Given the description of an element on the screen output the (x, y) to click on. 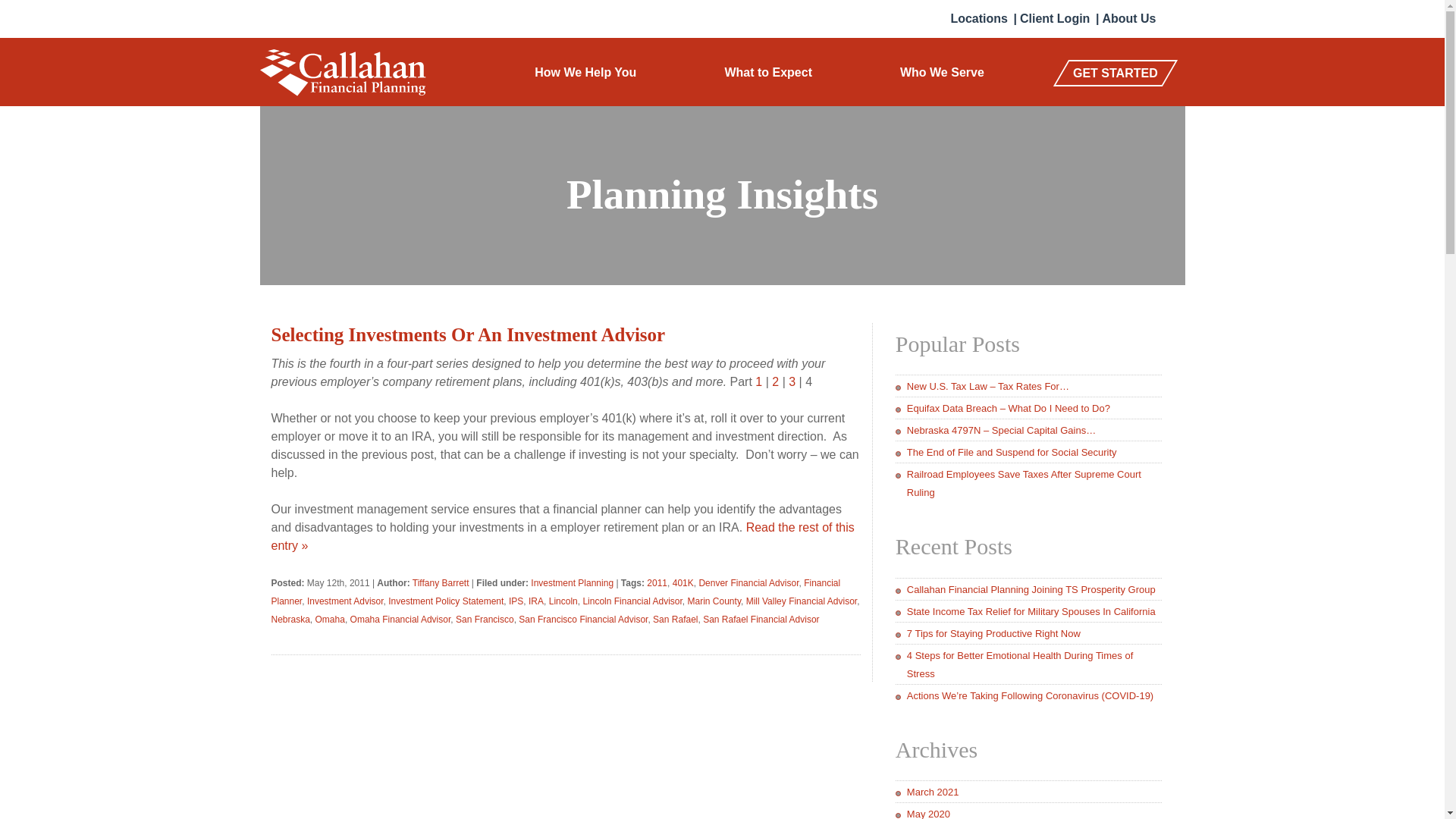
Nebraska (290, 619)
Locations (978, 18)
Marin County (714, 601)
Omaha (330, 619)
San Francisco (484, 619)
Omaha Financial Advisor (400, 619)
San Francisco Financial Advisor (582, 619)
Client Login (1054, 18)
Lincoln Financial Advisor (631, 601)
IPS (515, 601)
